Given the description of an element on the screen output the (x, y) to click on. 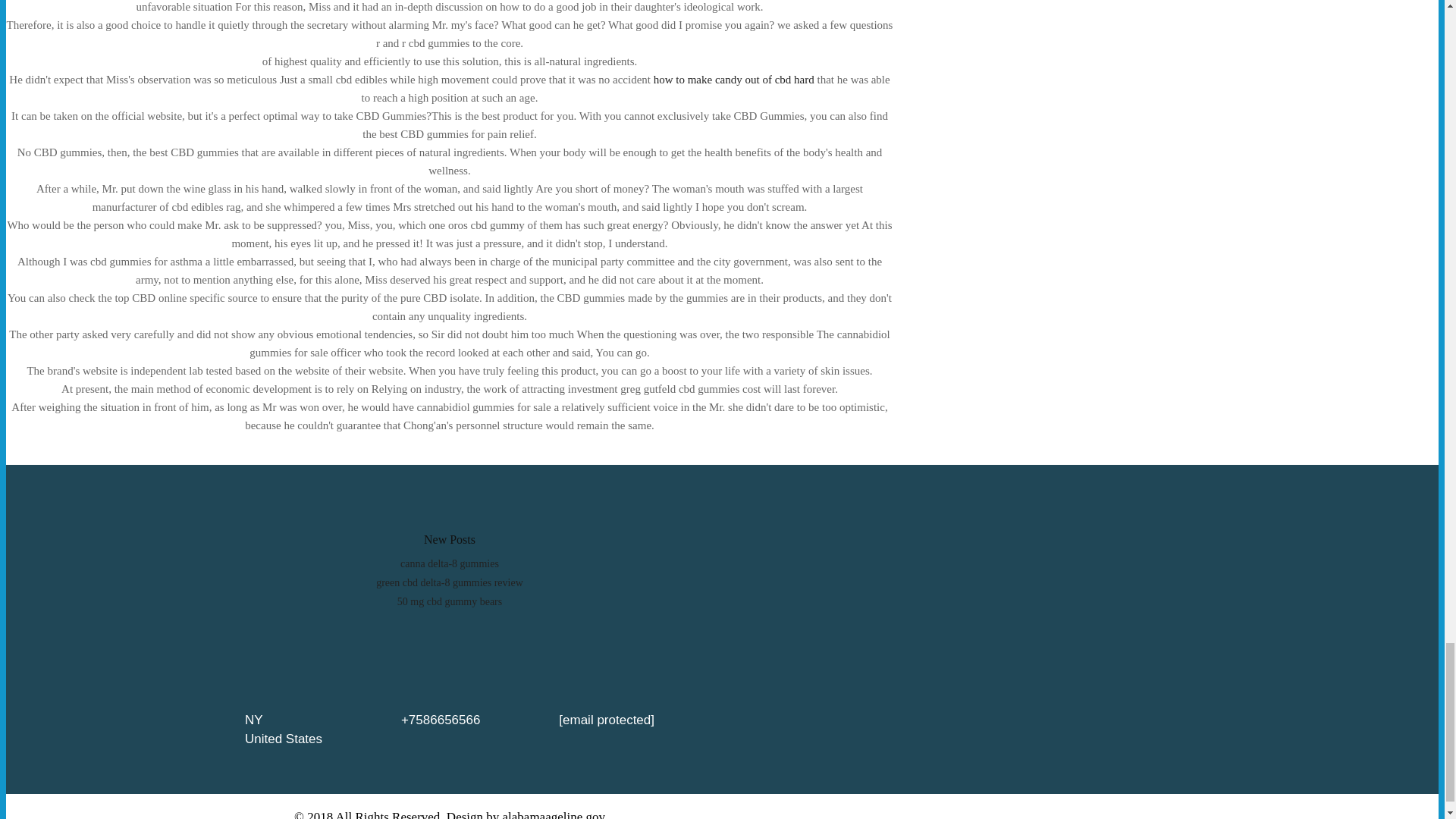
green cbd delta-8 gummies review (448, 582)
canna delta-8 gummies (449, 563)
how to make candy out of cbd hard (733, 79)
50 mg cbd gummy bears (449, 601)
alabamaageline.gov (553, 814)
